Given the description of an element on the screen output the (x, y) to click on. 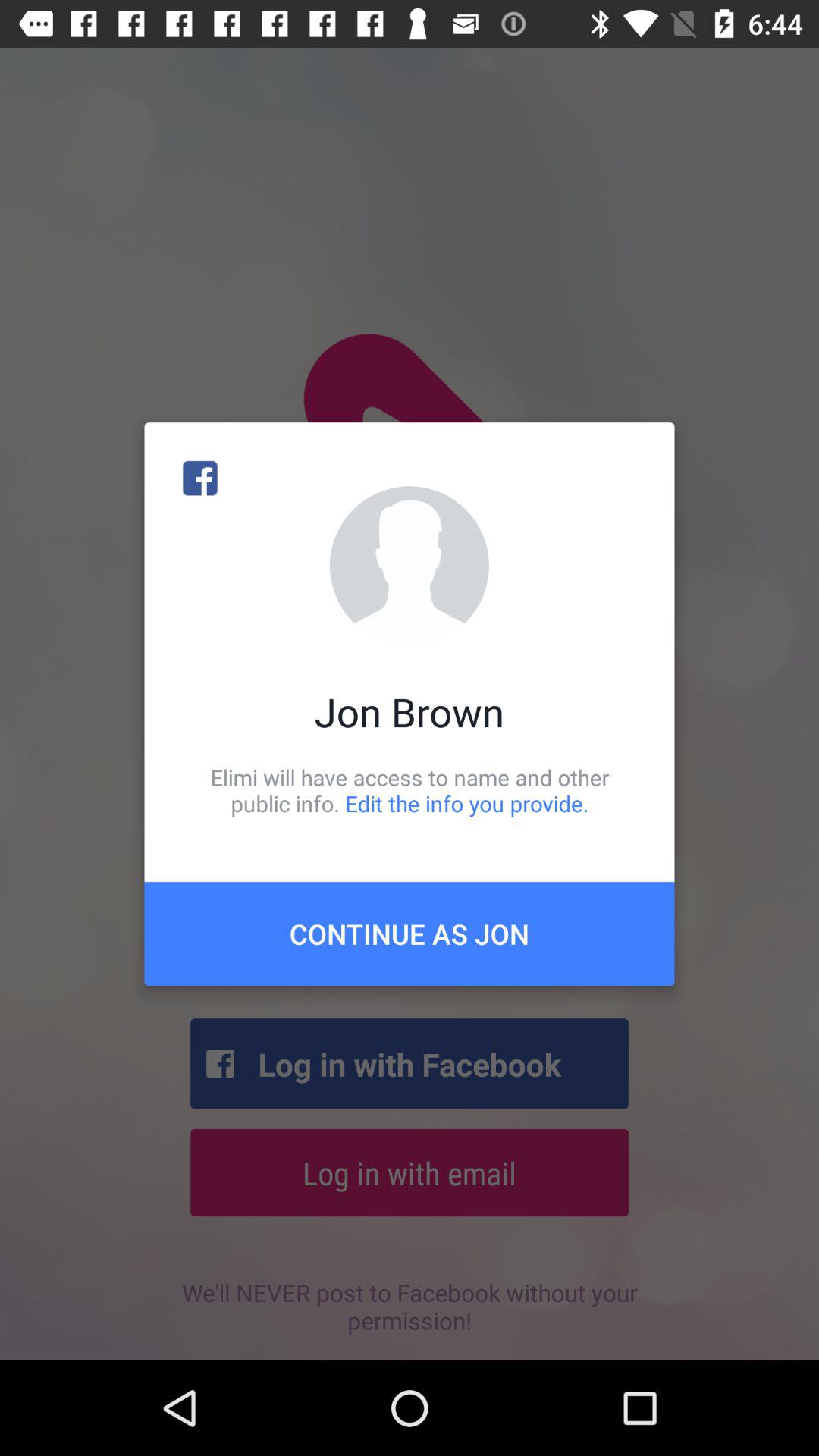
choose the elimi will have (409, 790)
